Given the description of an element on the screen output the (x, y) to click on. 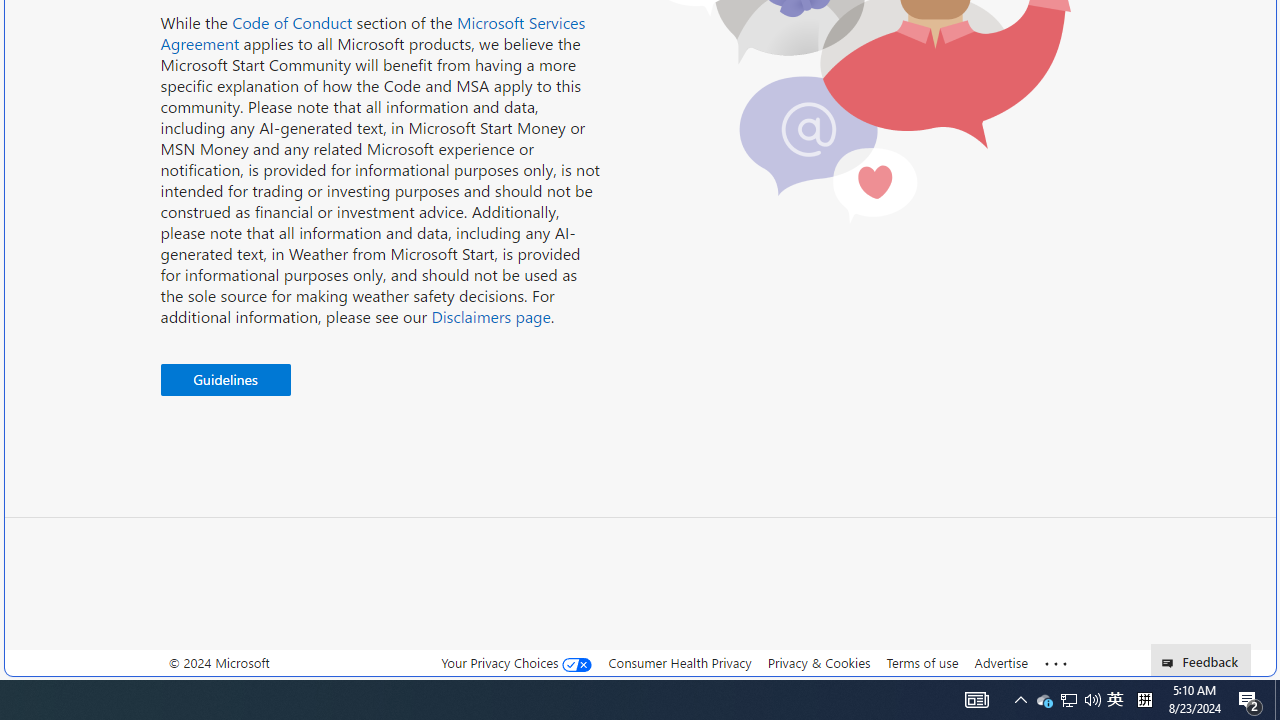
Advertise (1000, 663)
Class: feedback_link_icon-DS-EntryPoint1-1 (1170, 663)
Class: oneFooter_seeMore-DS-EntryPoint1-1 (1055, 663)
Code of Conduct (292, 22)
